Given the description of an element on the screen output the (x, y) to click on. 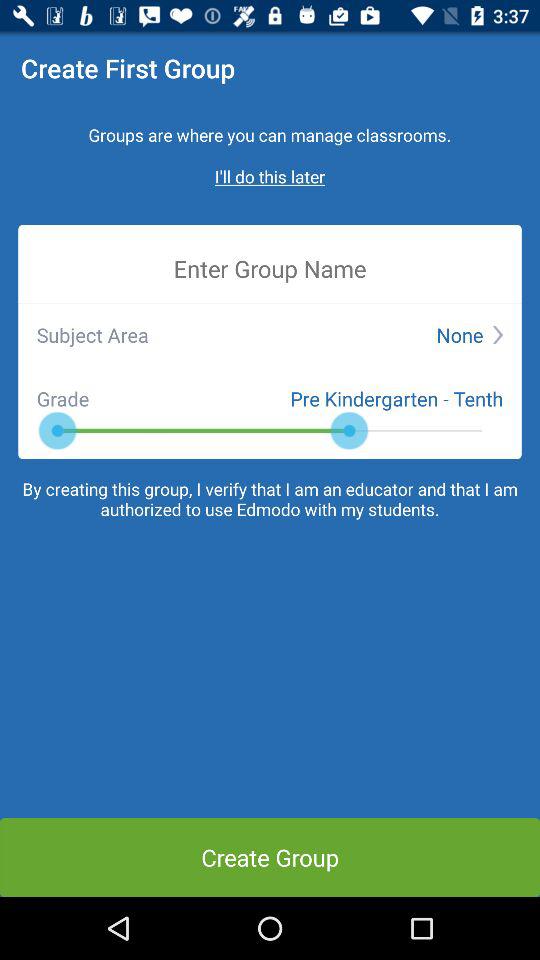
click icon below the groups are where item (269, 176)
